Given the description of an element on the screen output the (x, y) to click on. 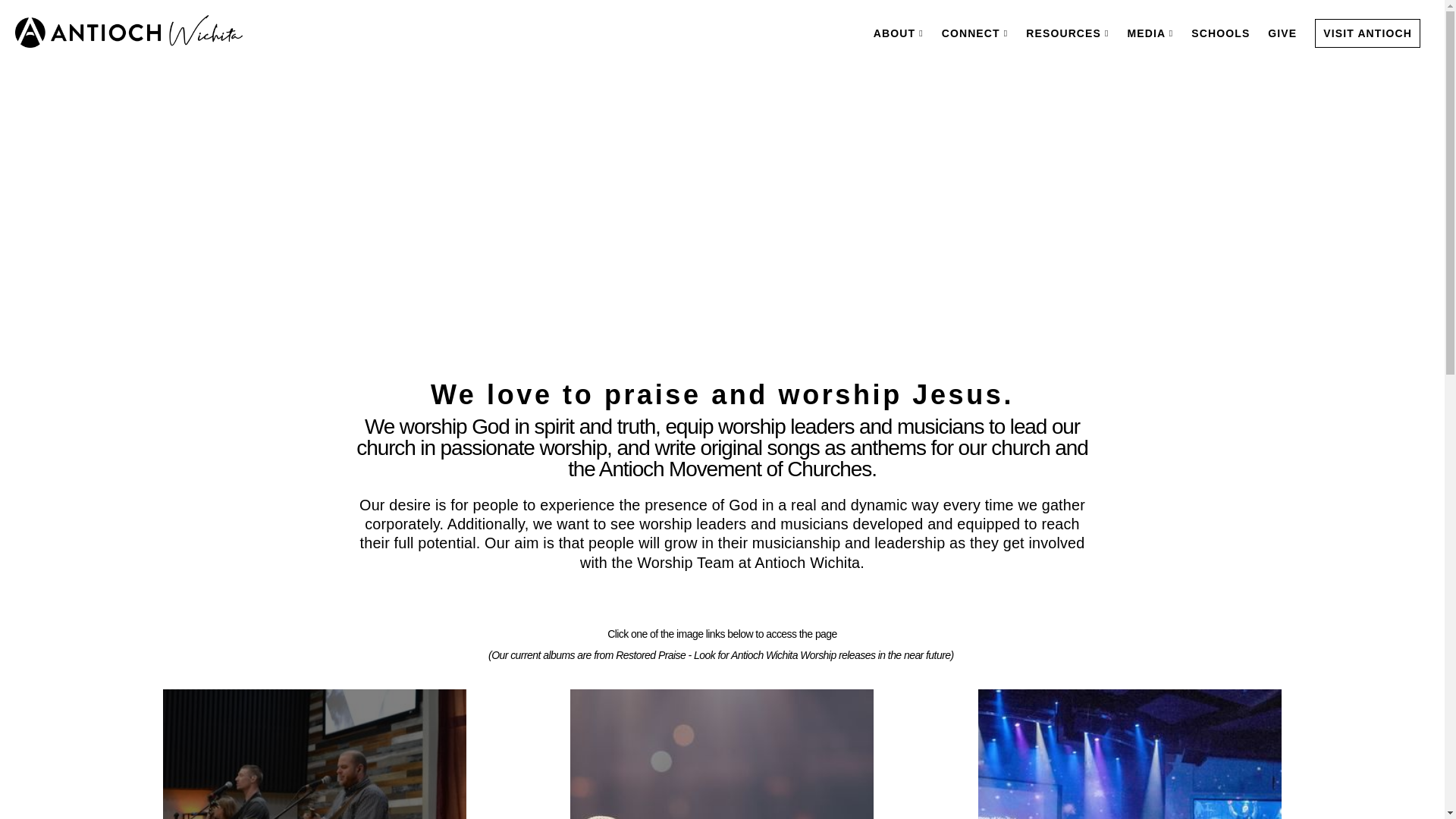
MEDIA  (1149, 32)
VISIT ANTIOCH (1367, 32)
ABOUT  (898, 32)
SCHOOLS (1220, 32)
RESOURCES  (1066, 32)
GIVE (1282, 32)
CONNECT  (975, 32)
